Given the description of an element on the screen output the (x, y) to click on. 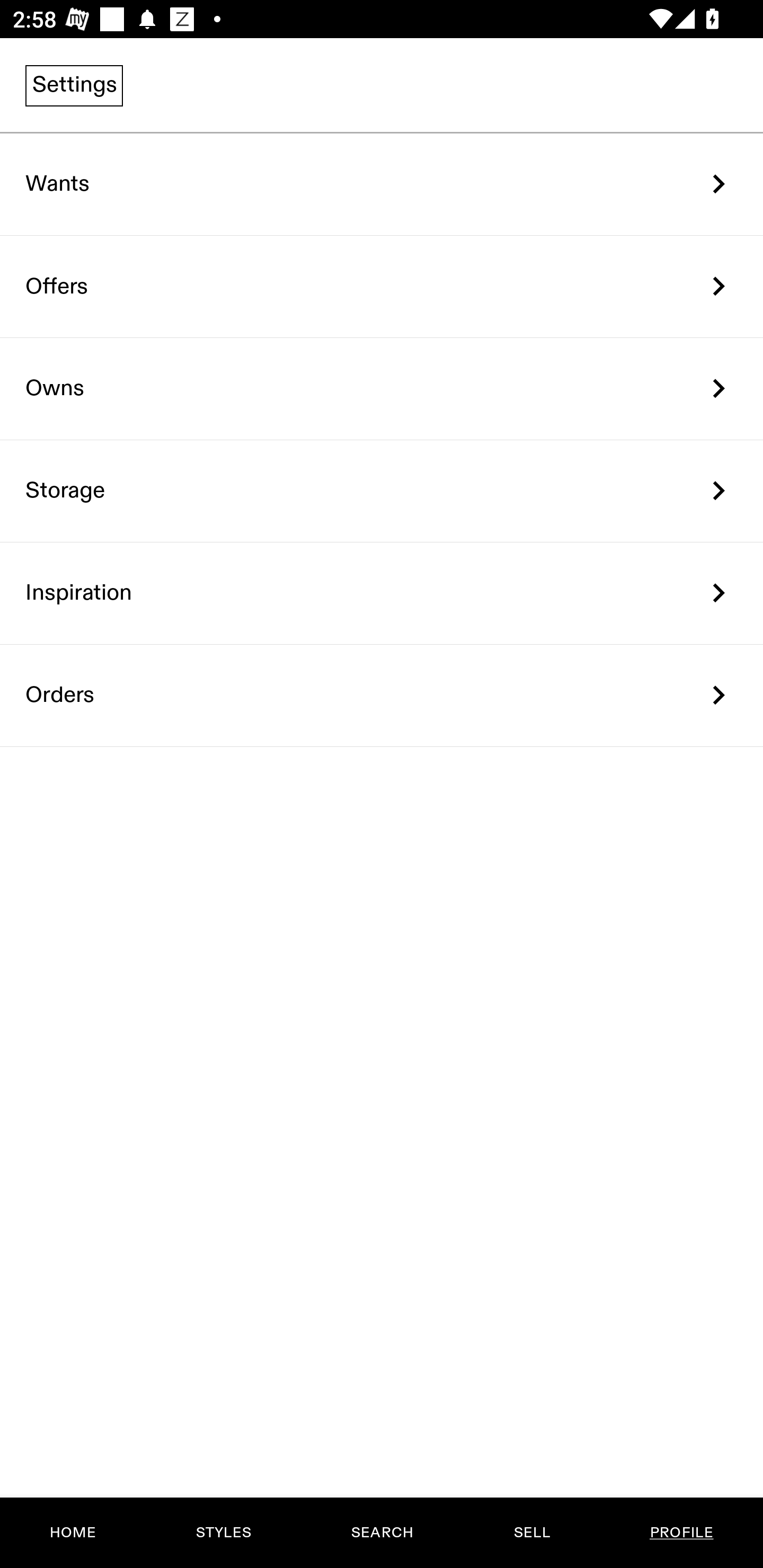
Settings (73, 85)
Wants (381, 184)
Offers (381, 286)
Owns (381, 388)
Storage (381, 491)
Inspiration (381, 593)
Orders (381, 695)
HOME (72, 1532)
STYLES (222, 1532)
SEARCH (381, 1532)
SELL (531, 1532)
PROFILE (681, 1532)
